Given the description of an element on the screen output the (x, y) to click on. 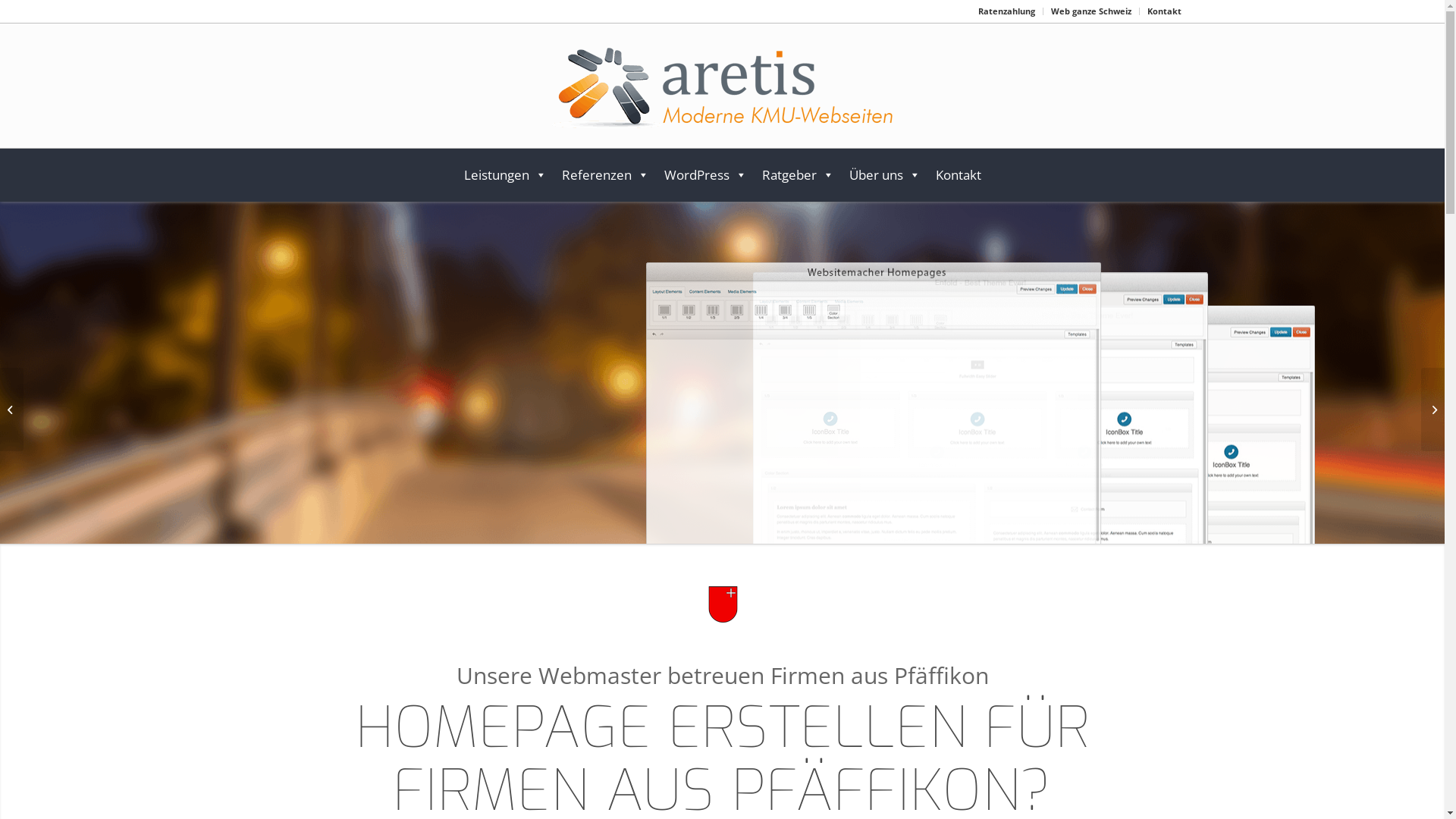
WordPress Element type: text (705, 174)
Leistungen Element type: text (505, 174)
websitemacher_logo-1 Element type: hover (721, 91)
Kontakt Element type: text (958, 174)
Ratenzahlung Element type: text (1006, 10)
Referenzen Element type: text (604, 174)
Kontakt Element type: text (1163, 10)
Web ganze Schweiz Element type: text (1091, 10)
Ratgeber Element type: text (796, 174)
